Given the description of an element on the screen output the (x, y) to click on. 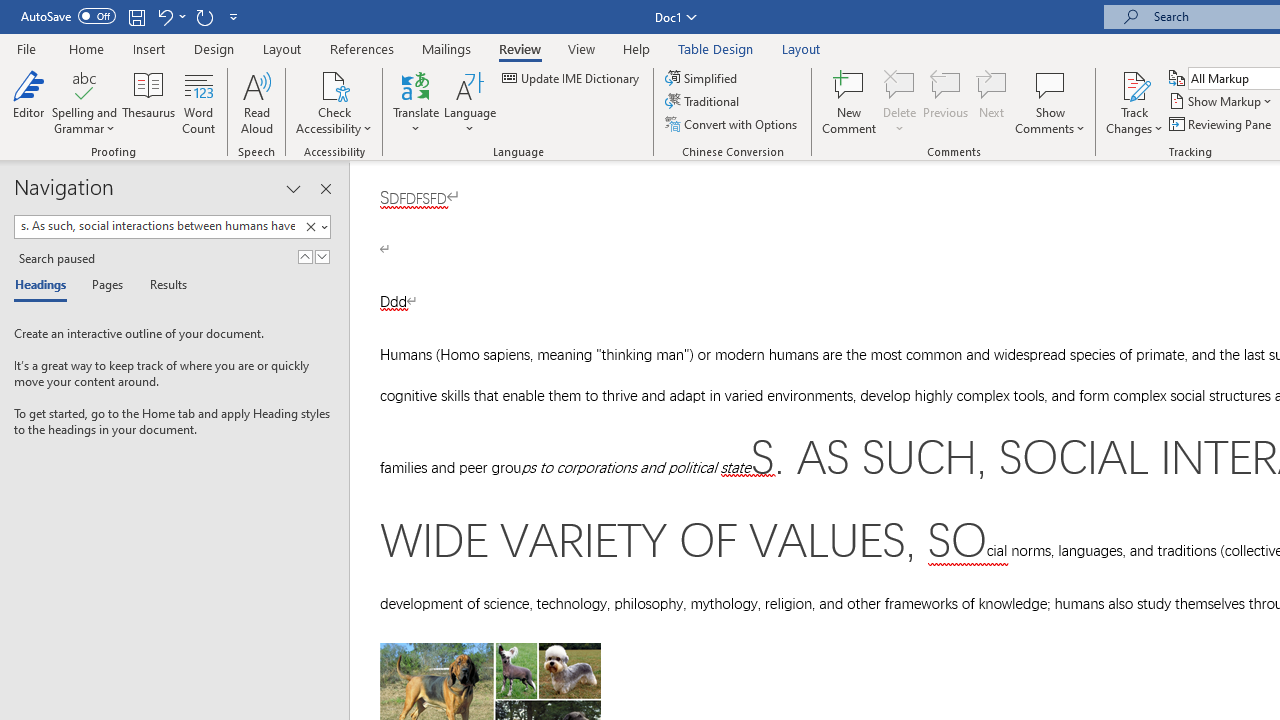
Next (991, 102)
Word Count (198, 102)
Undo Style (164, 15)
Read Aloud (256, 102)
Thesaurus... (148, 102)
Show Markup (1222, 101)
Language (470, 102)
Previous Result (304, 256)
